Given the description of an element on the screen output the (x, y) to click on. 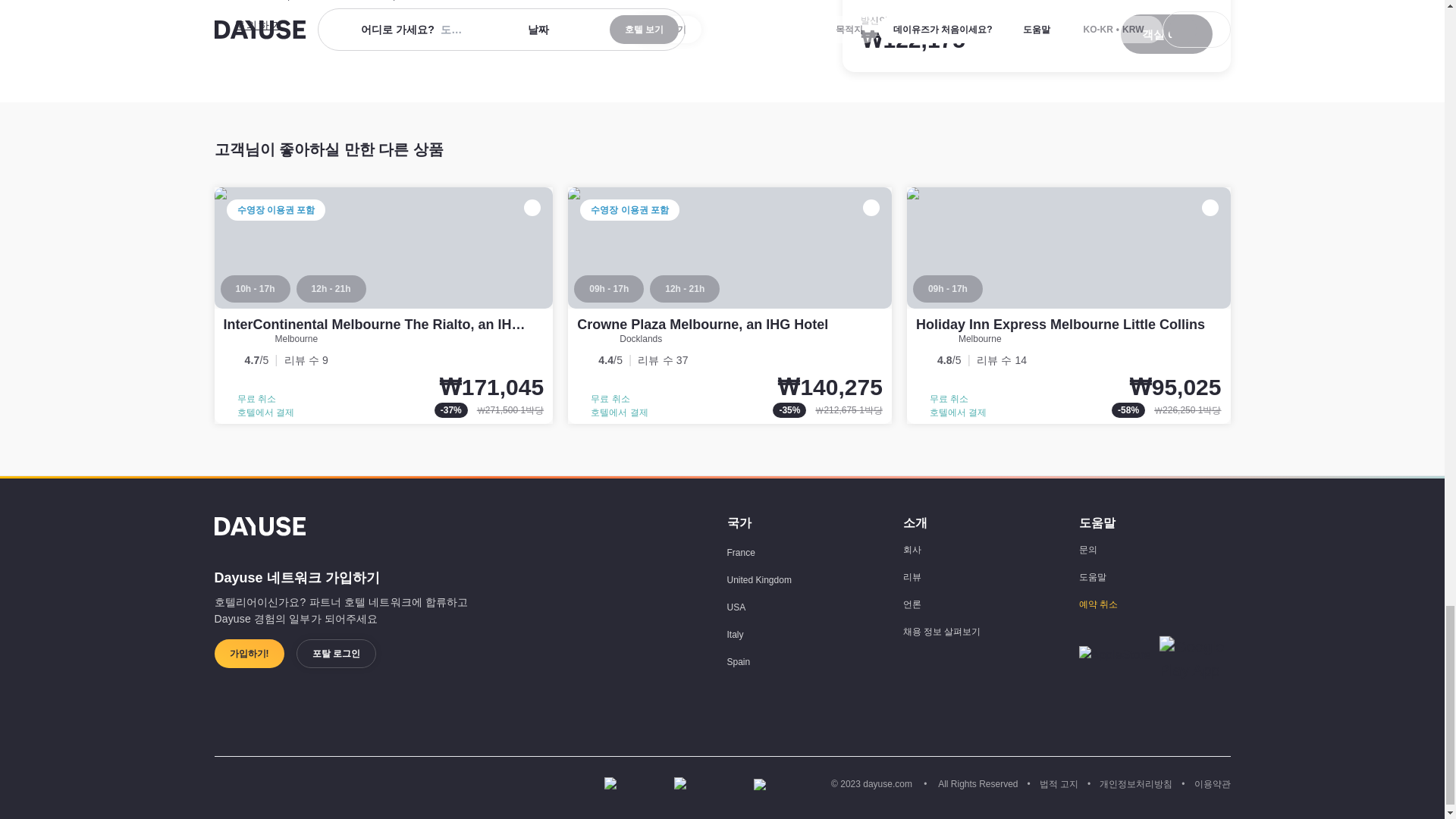
Holiday Inn Express Melbourne Little Collins (1068, 305)
InterContinental Melbourne The Rialto, an IHG Hotel (390, 324)
Holiday Inn Express Melbourne Little Collins (1060, 324)
Crowne Plaza Melbourne, an IHG Hotel (729, 305)
Crowne Plaza Melbourne, an IHG Hotel (702, 324)
InterContinental Melbourne The Rialto, an IHG Hotel (383, 305)
